Given the description of an element on the screen output the (x, y) to click on. 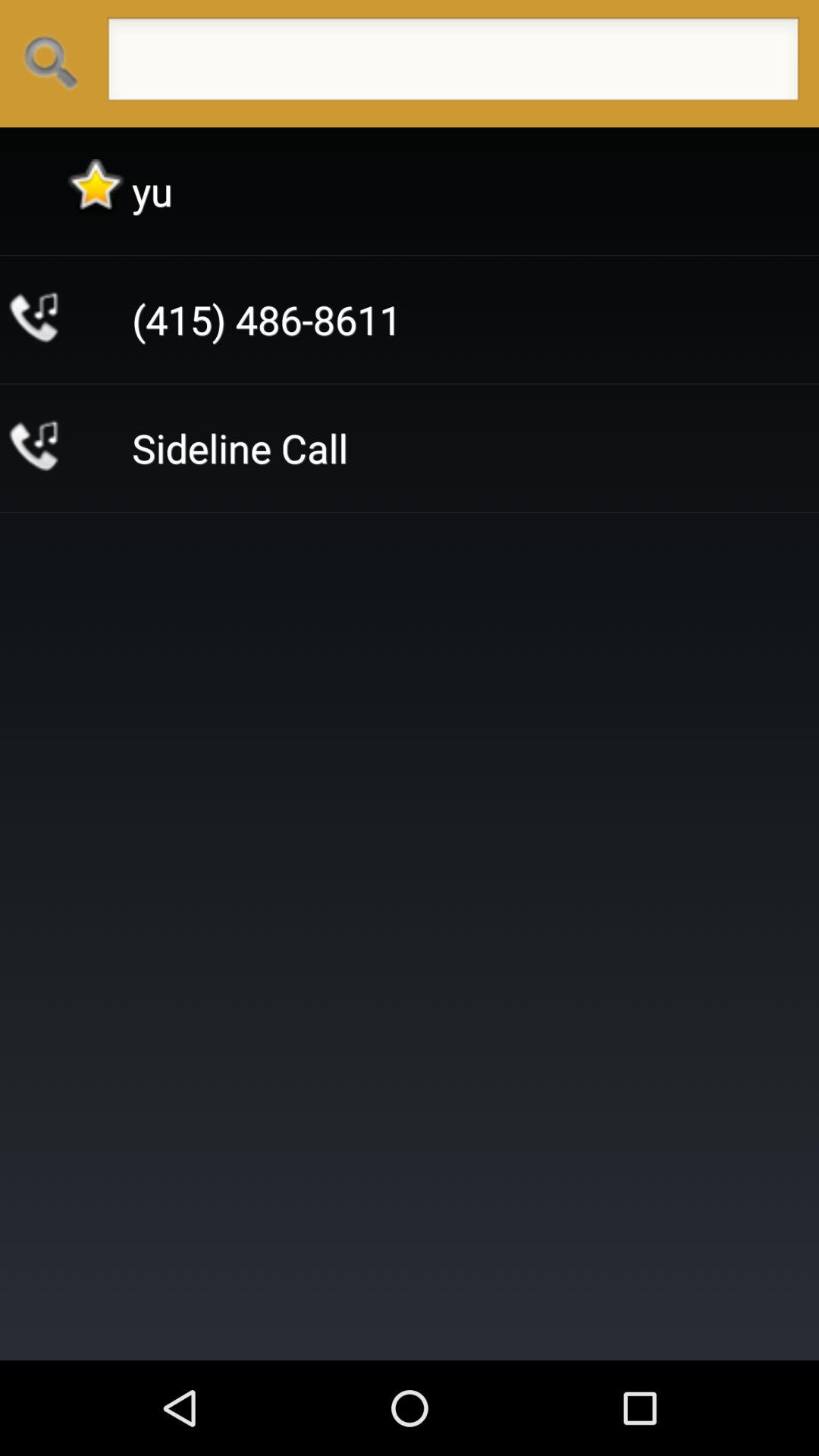
click the app below the (415) 486-8611 (239, 447)
